Given the description of an element on the screen output the (x, y) to click on. 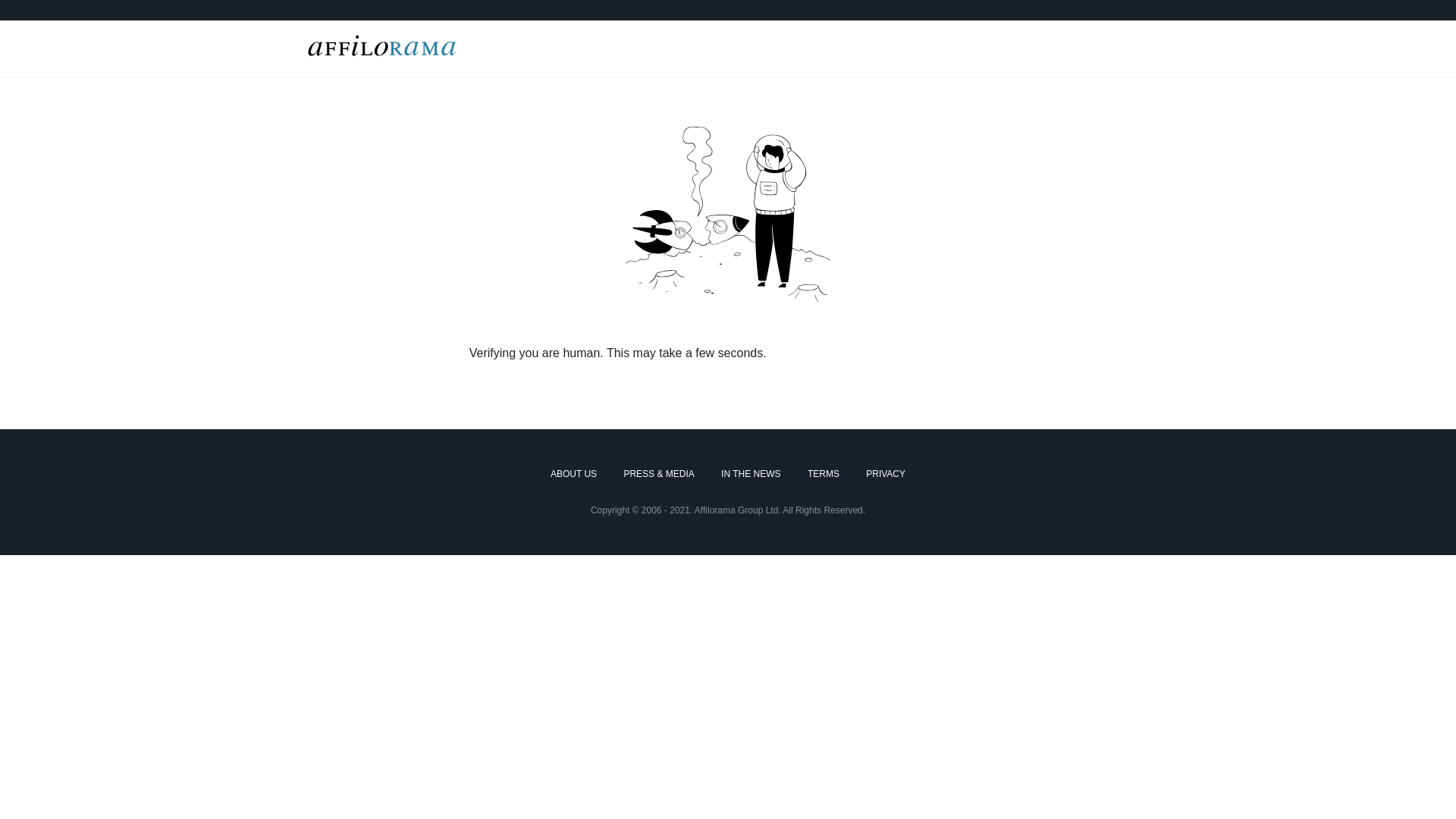
ABOUT US (573, 474)
TERMS (824, 474)
PRIVACY (885, 474)
IN THE NEWS (750, 474)
